Given the description of an element on the screen output the (x, y) to click on. 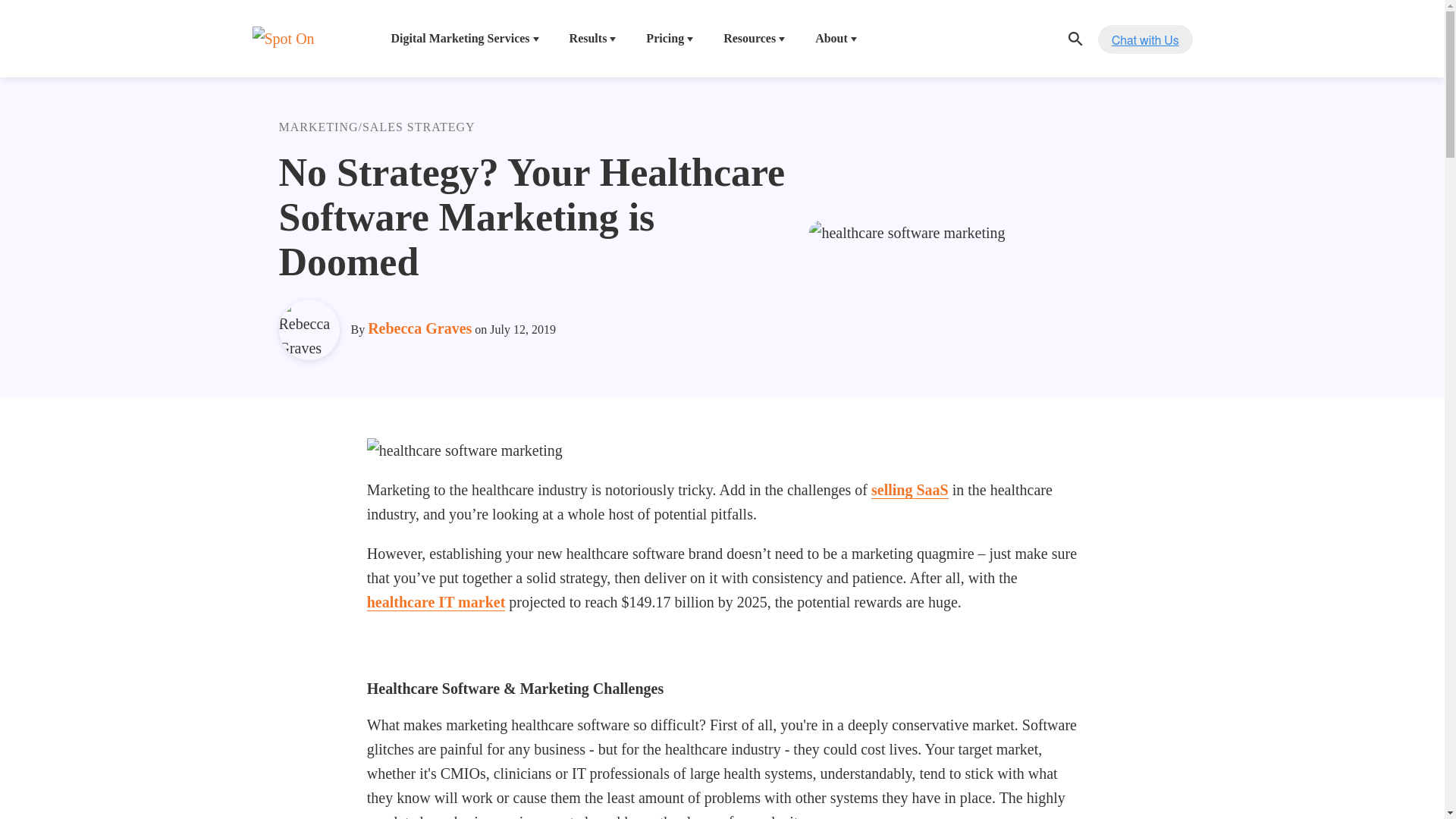
Resources (753, 38)
Results (592, 38)
About (835, 38)
Digital Marketing Services (464, 38)
Pricing (668, 38)
